Given the description of an element on the screen output the (x, y) to click on. 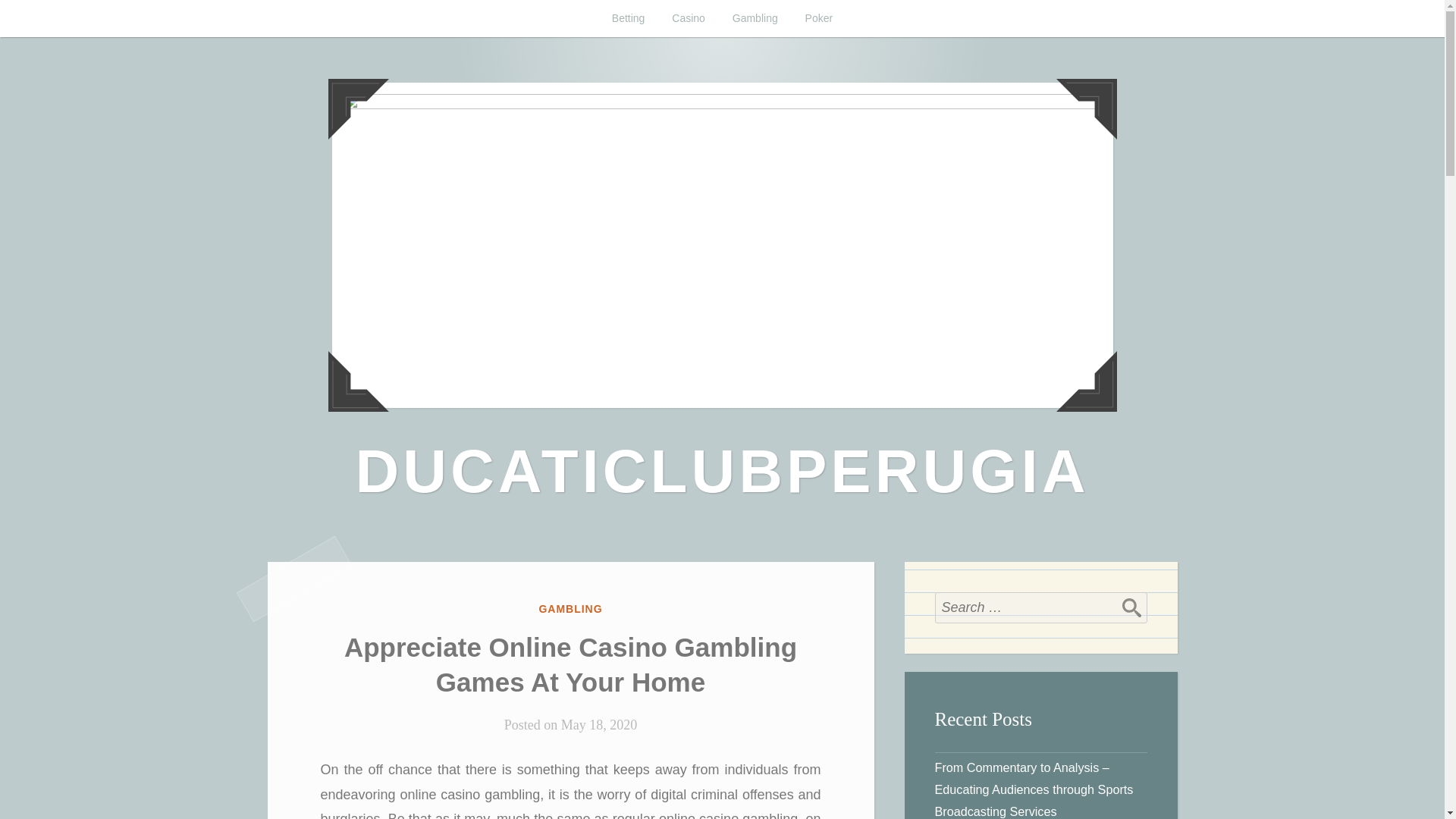
Search (1131, 607)
Casino (688, 18)
DUCATICLUBPERUGIA (722, 471)
Search (1131, 607)
Poker (819, 18)
Betting (628, 18)
Search (1131, 607)
Gambling (755, 18)
May 18, 2020 (598, 724)
GAMBLING (570, 608)
